Given the description of an element on the screen output the (x, y) to click on. 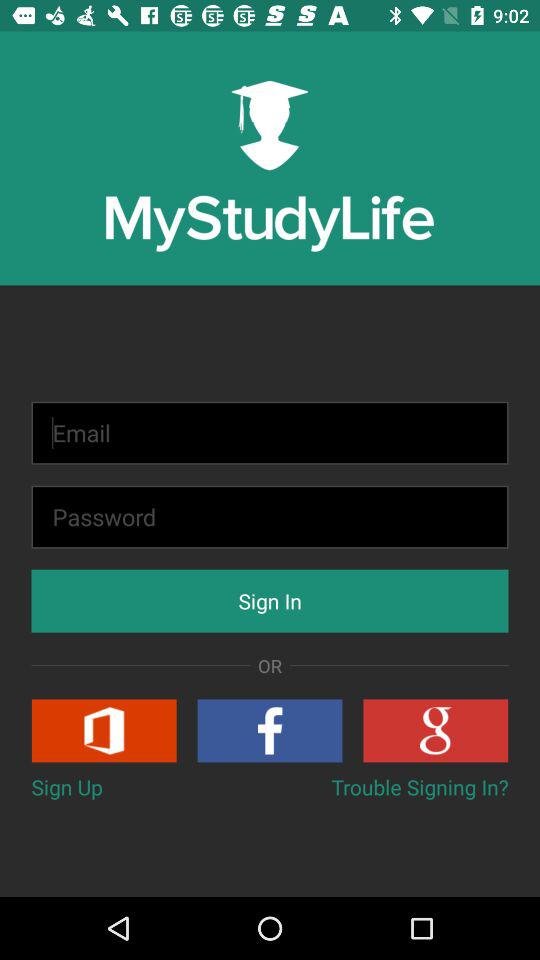
signup with google (435, 730)
